Given the description of an element on the screen output the (x, y) to click on. 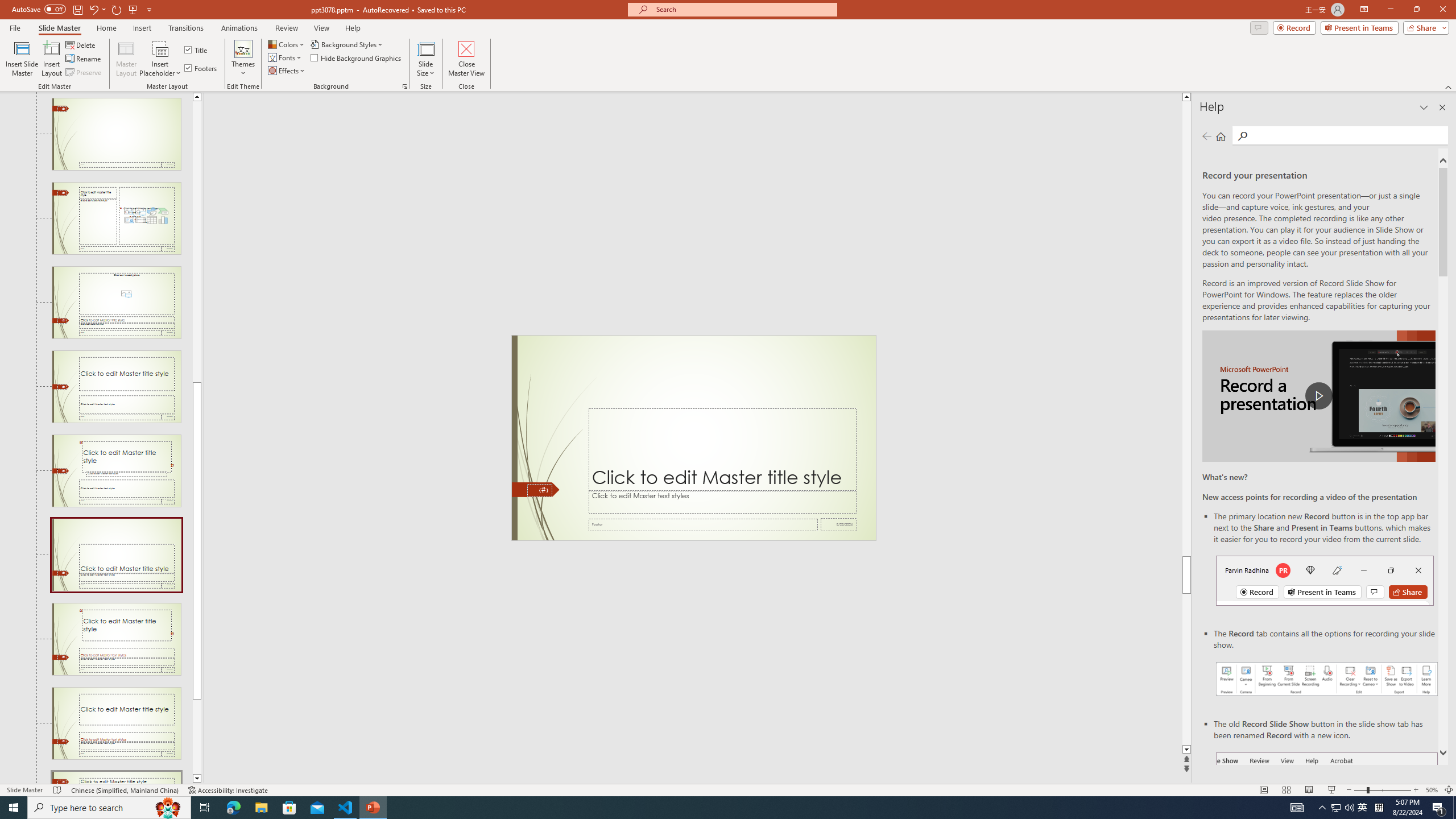
Background Styles (347, 44)
Close Master View (466, 58)
Colors (287, 44)
Record button in top bar (1324, 580)
